Given the description of an element on the screen output the (x, y) to click on. 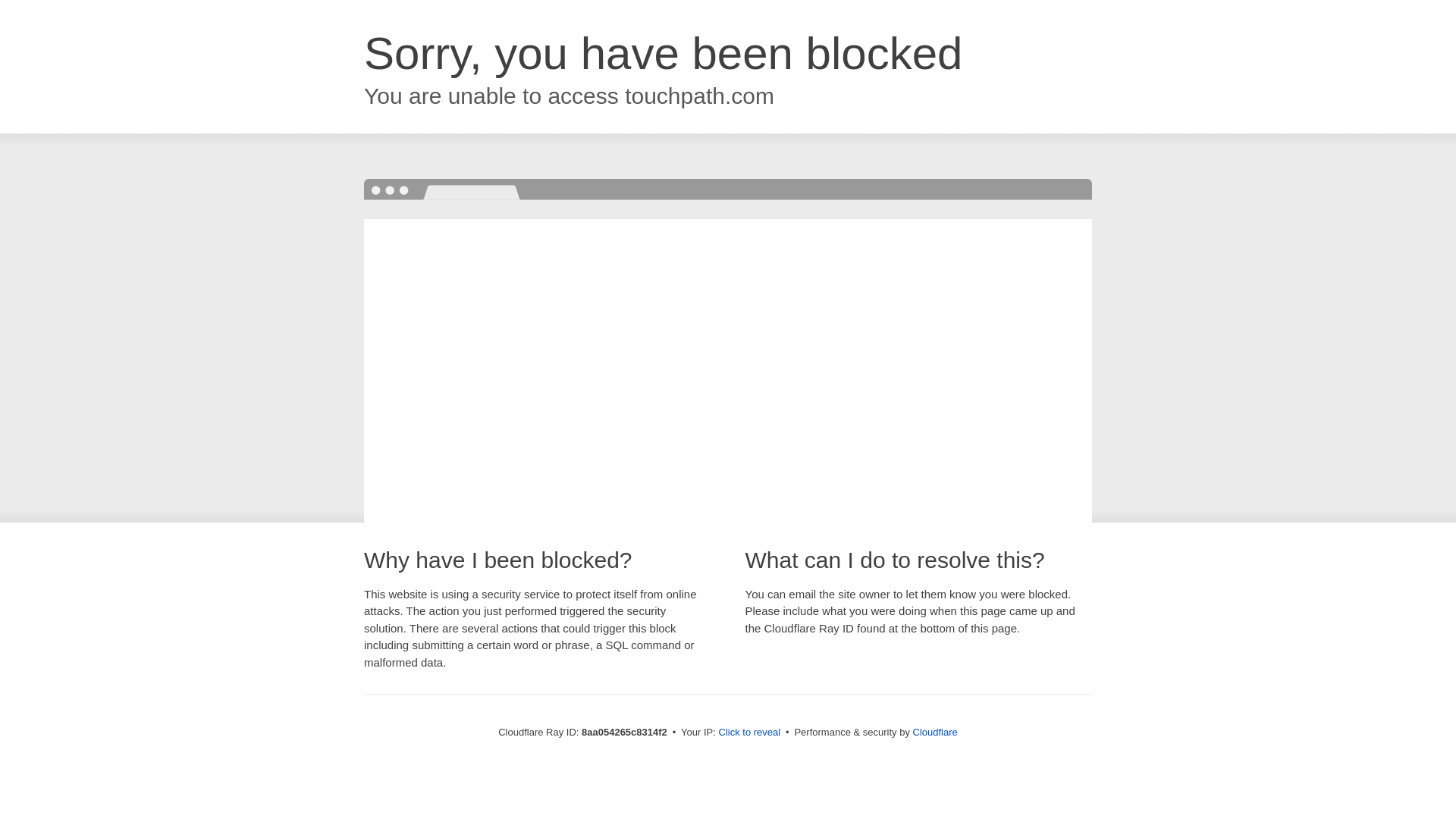
Cloudflare (935, 731)
Click to reveal (749, 732)
